Given the description of an element on the screen output the (x, y) to click on. 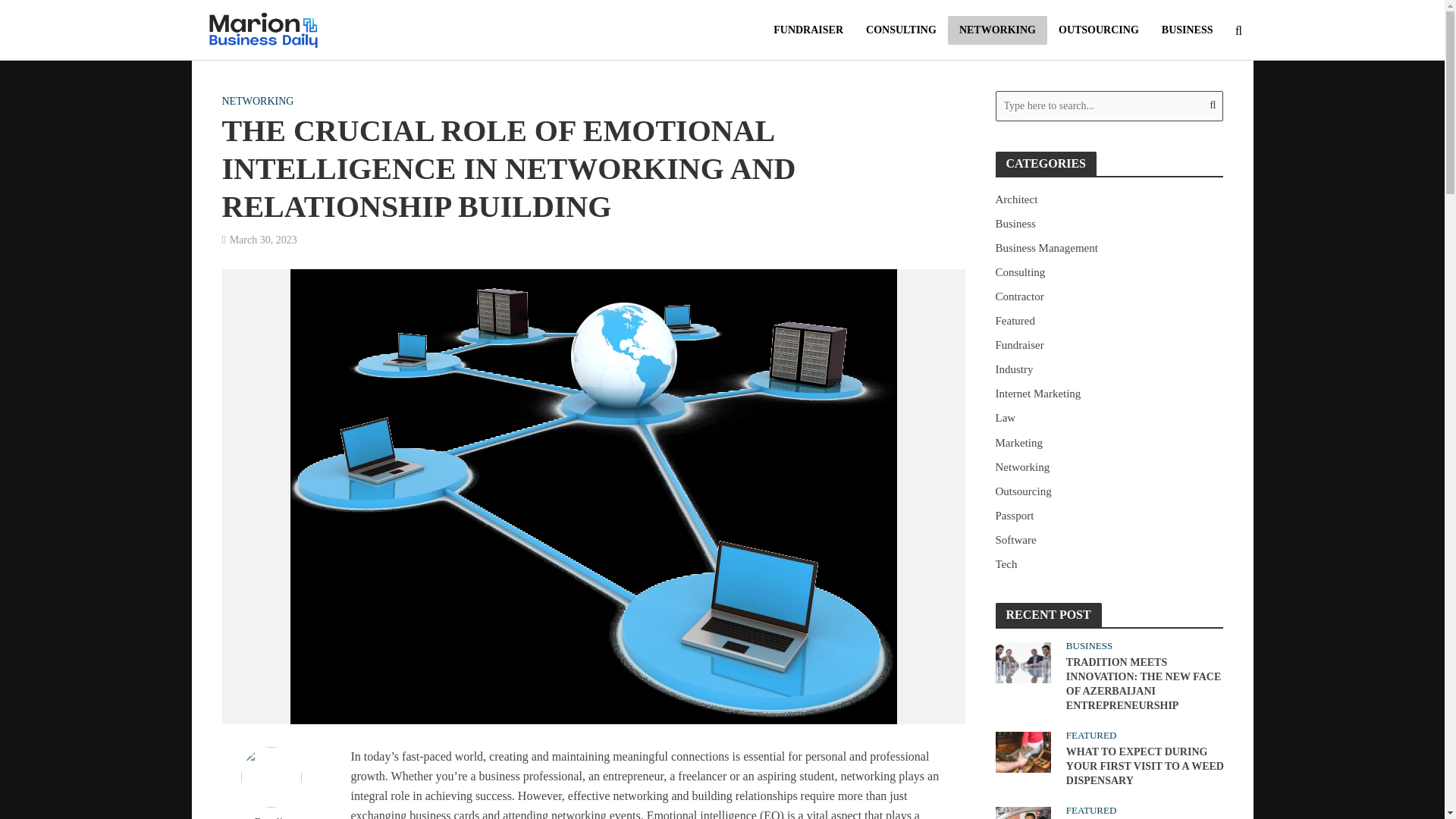
Rosalia (270, 816)
OUTSOURCING (1098, 30)
NETWORKING (257, 103)
FUNDRAISER (807, 30)
BUSINESS (1187, 30)
What to Expect During Your First Visit to a Weed Dispensary (1021, 751)
NETWORKING (996, 30)
Architect (1108, 199)
Business Management (1108, 247)
Business (1108, 223)
CONSULTING (900, 30)
